Given the description of an element on the screen output the (x, y) to click on. 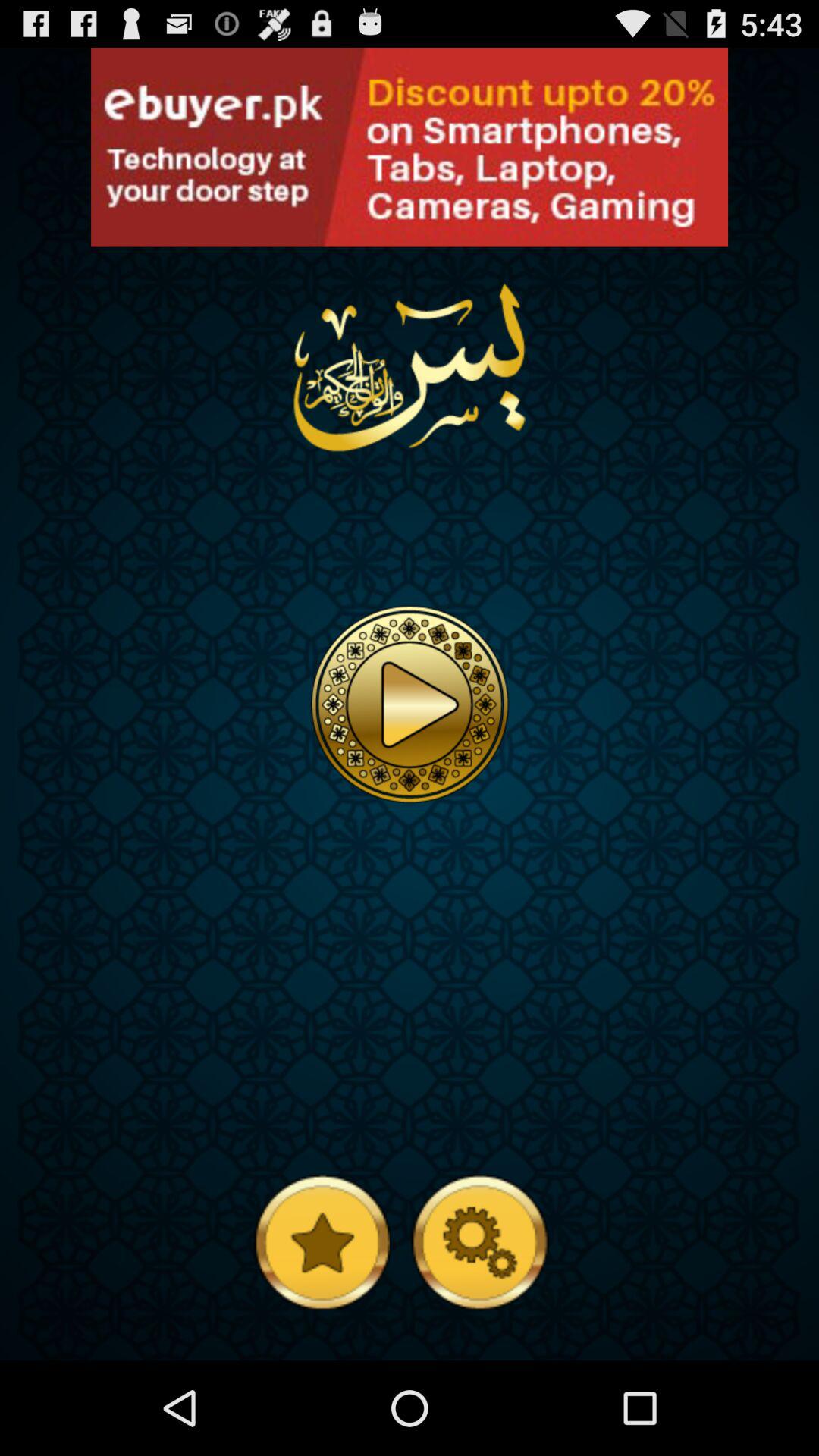
open an advertisement (409, 146)
